Given the description of an element on the screen output the (x, y) to click on. 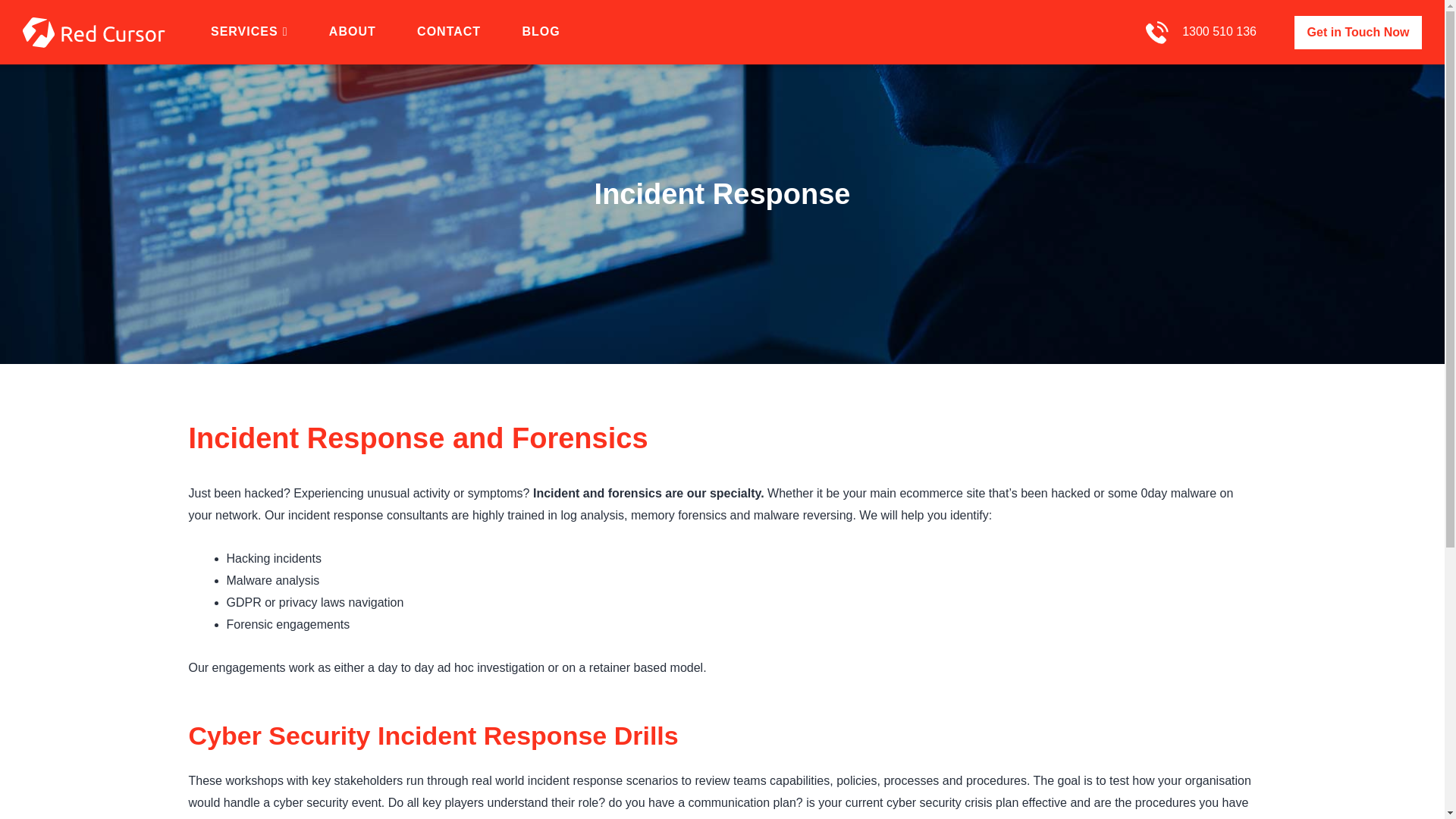
SERVICES (249, 32)
1300 510 136 (1219, 32)
CONTACT (448, 32)
Get in Touch Now (1358, 32)
ABOUT (351, 32)
BLOG (541, 32)
